Given the description of an element on the screen output the (x, y) to click on. 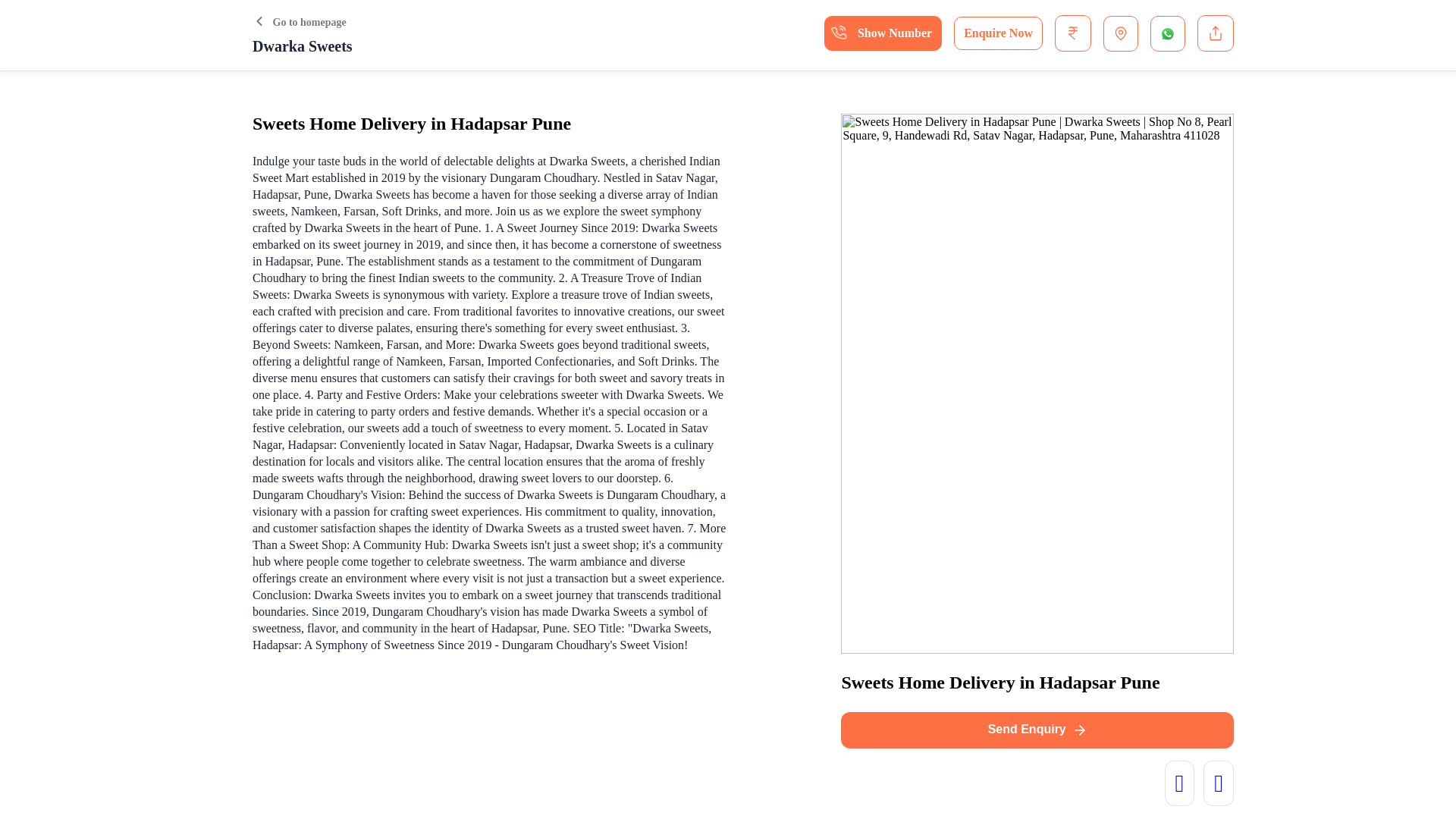
Show Number (883, 32)
Go to homepage (298, 21)
Enquire Now (997, 32)
Send Enquiry (1037, 729)
